Given the description of an element on the screen output the (x, y) to click on. 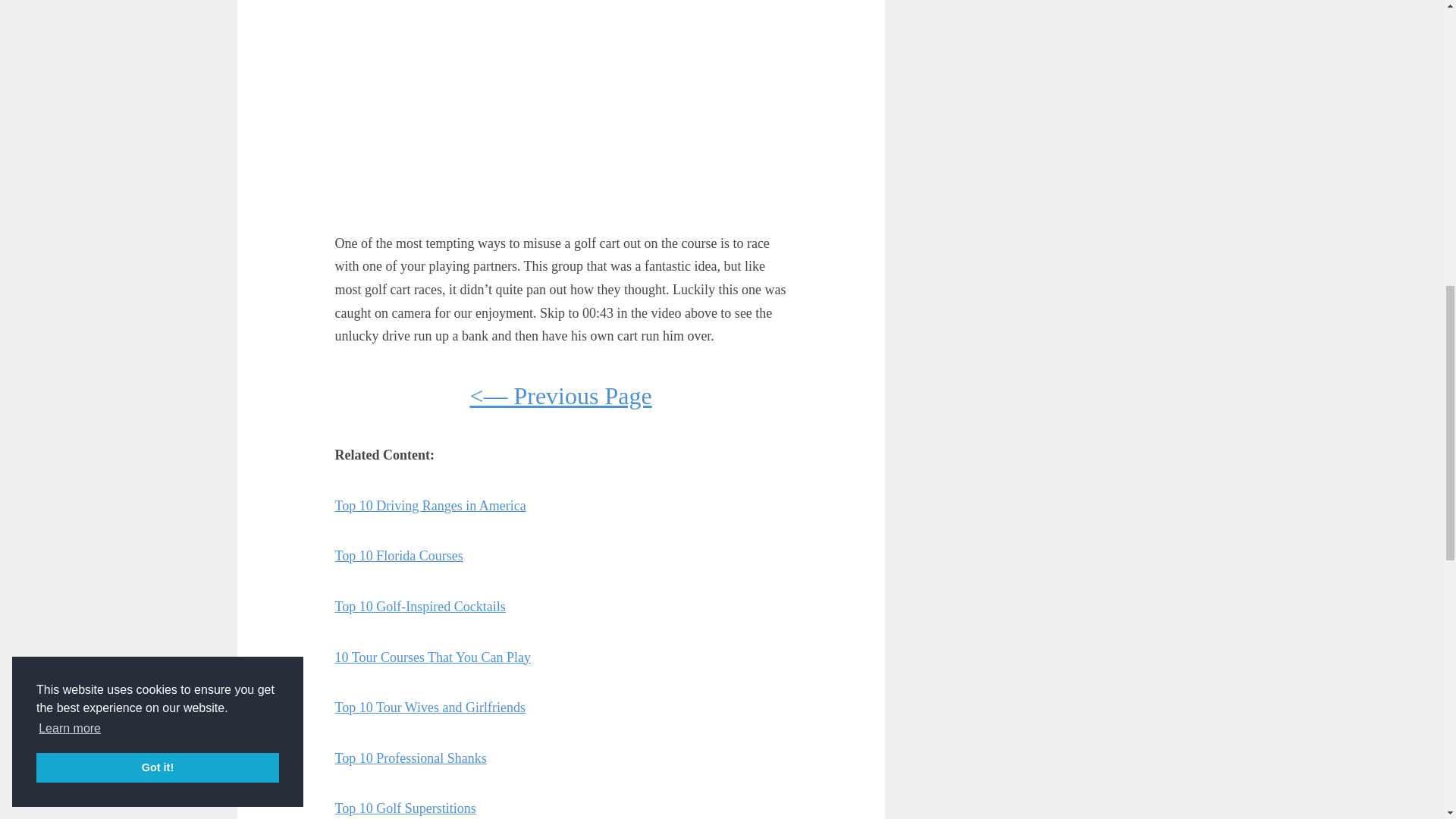
Top 10 Florida Courses (398, 555)
Top 10 Golf Superstitions (405, 807)
Top 10 Golf-Inspired Cocktails (419, 606)
10 Tour Courses That You Can Play (432, 657)
Top 10 Driving Ranges in America (429, 505)
Top 10 Tour Wives and Girlfriends (429, 707)
Top 10 Professional Shanks (410, 758)
